Given the description of an element on the screen output the (x, y) to click on. 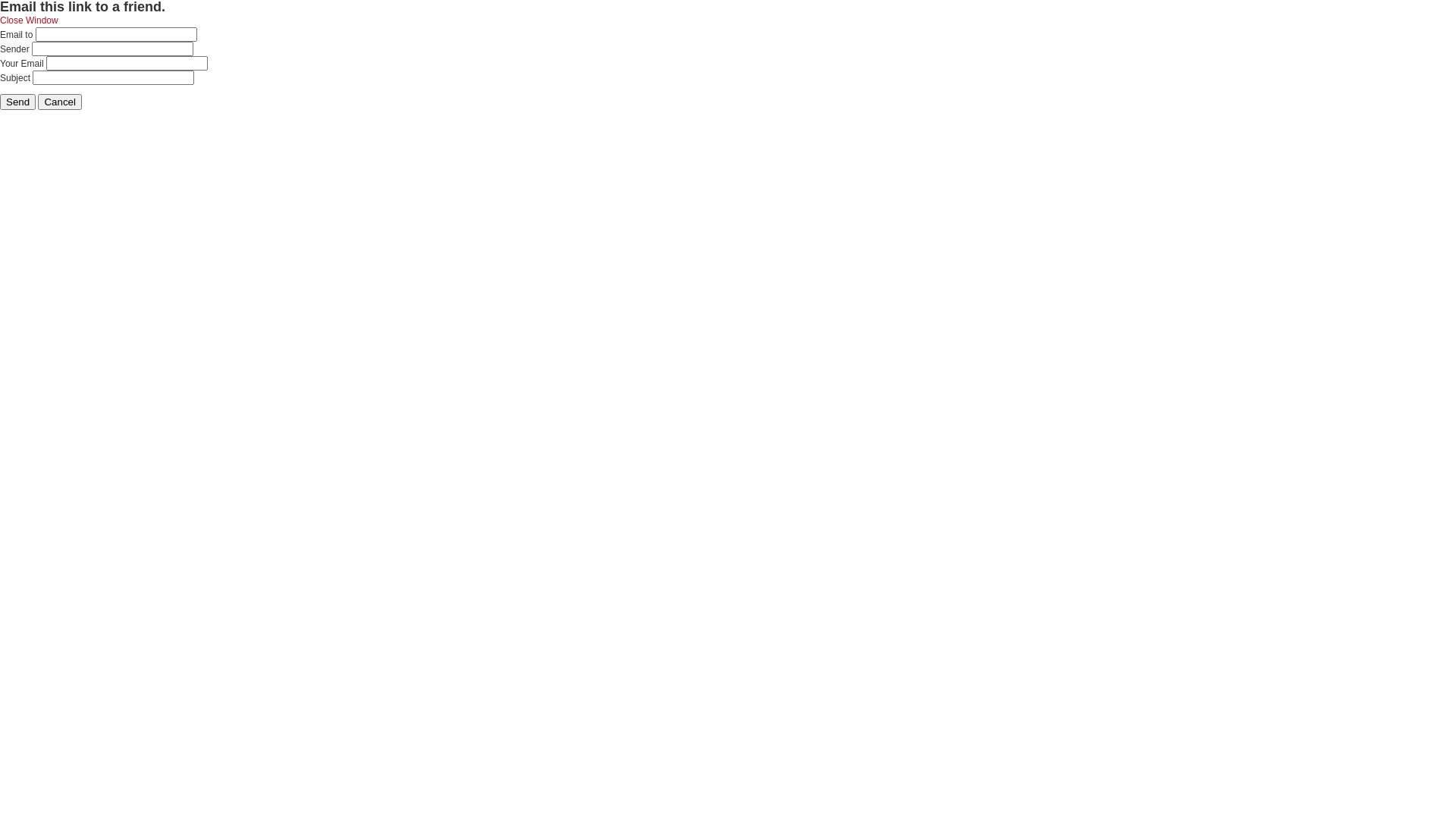
Close Window Element type: text (29, 20)
Cancel Element type: text (59, 101)
Send Element type: text (17, 101)
